Given the description of an element on the screen output the (x, y) to click on. 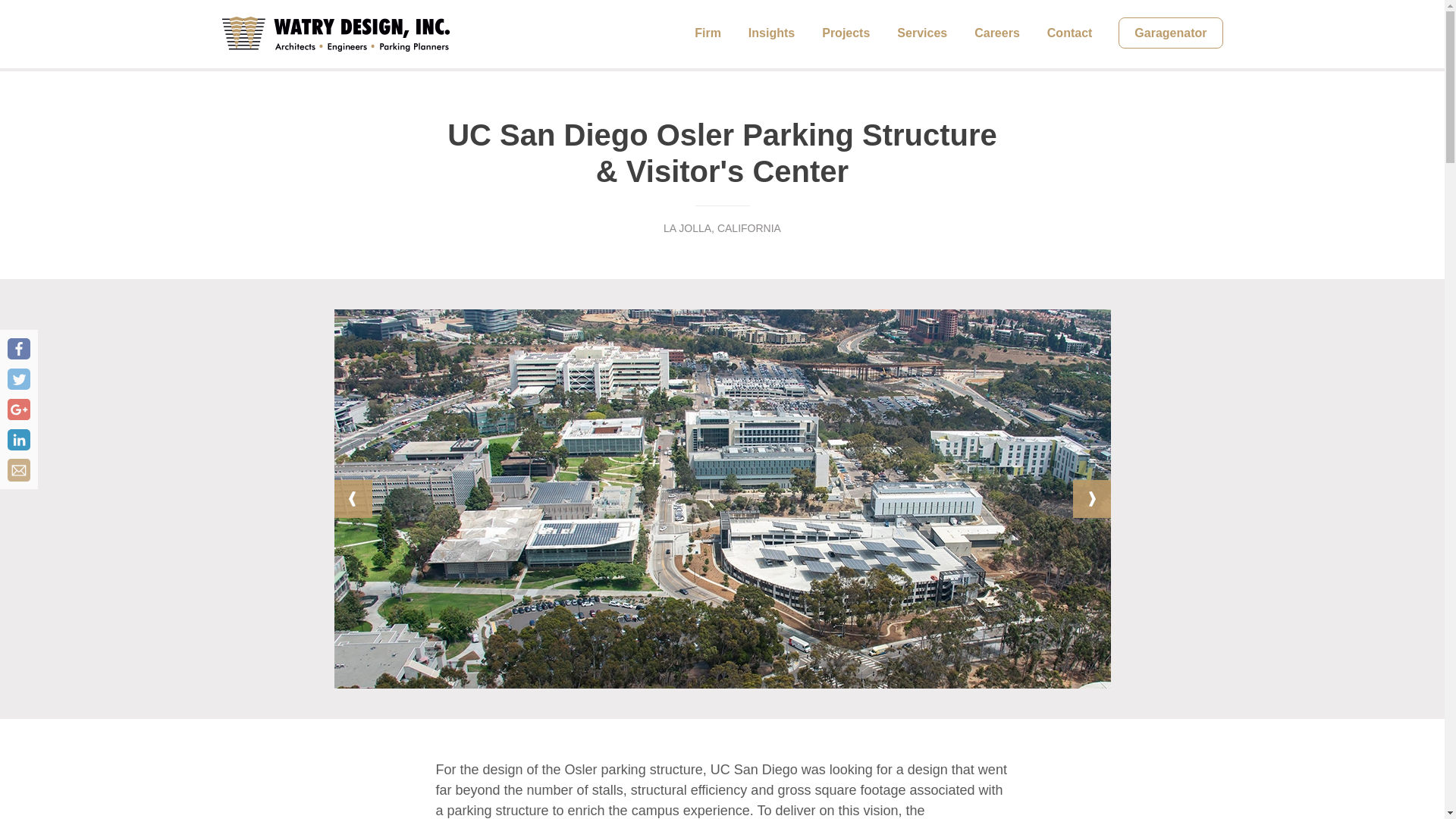
Projects (845, 33)
Services (922, 33)
homepage (334, 33)
Previous Slide (352, 498)
Next Slide (1090, 498)
Insights (771, 33)
Careers (996, 33)
Contact (1069, 33)
Garagenator (1170, 32)
